Given the description of an element on the screen output the (x, y) to click on. 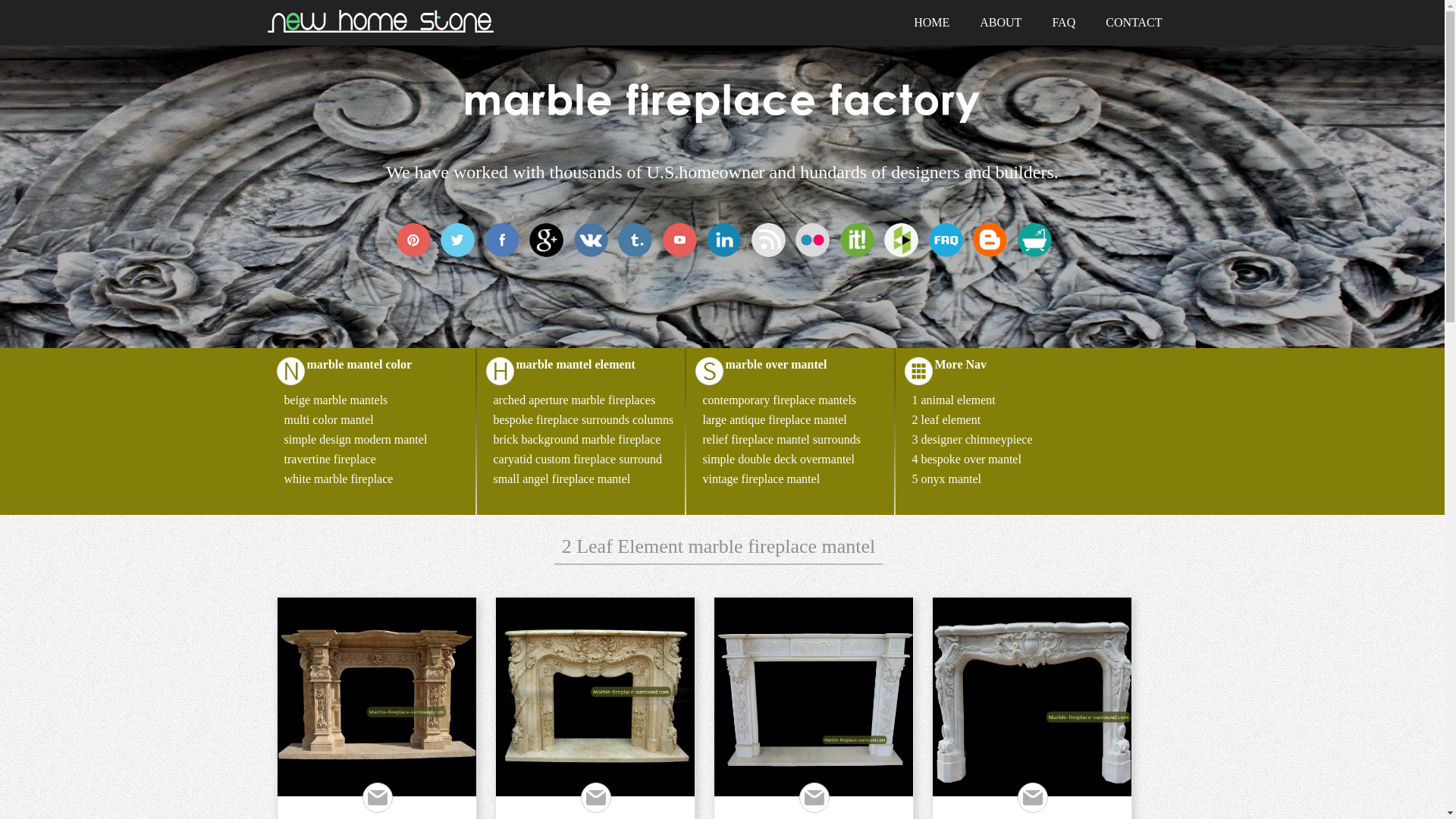
vintage fireplace mantel (760, 478)
4 bespoke over mantel (965, 459)
bespoke fireplace surrounds columns (582, 419)
1 animal element (952, 399)
HOME (930, 22)
contemporary fireplace mantels (778, 399)
CONTACT (1133, 22)
new home stone (379, 29)
2 leaf element (945, 419)
simple design modern mantel (354, 439)
simple double deck overmantel (777, 459)
multi color mantel (327, 419)
FAQ (1063, 22)
small angel fireplace mantel (561, 478)
3 designer chimneypiece (971, 439)
